Given the description of an element on the screen output the (x, y) to click on. 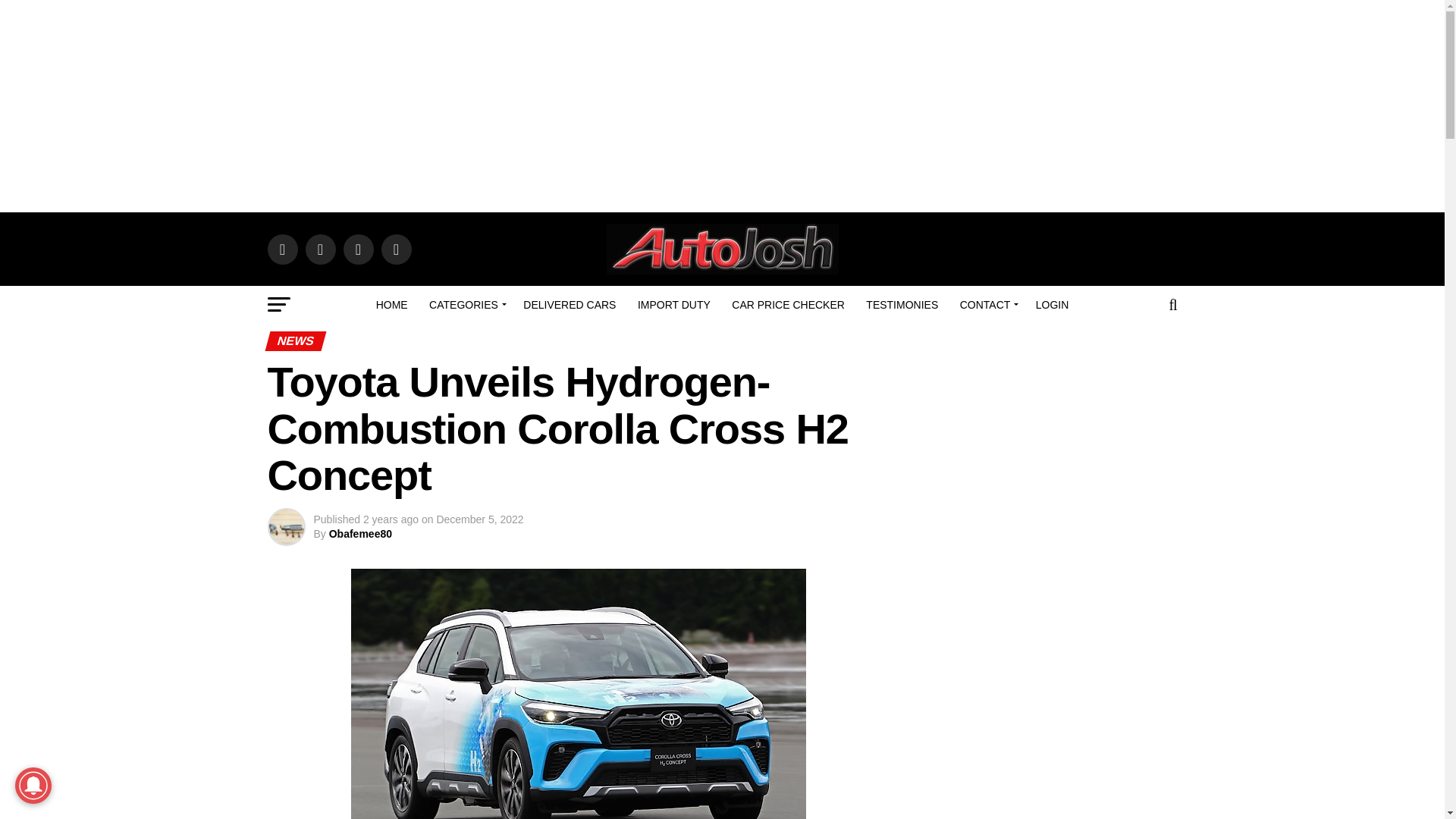
Advertisement (1047, 705)
HOME (391, 304)
CATEGORIES (465, 304)
Posts by Obafemee80 (360, 533)
